Given the description of an element on the screen output the (x, y) to click on. 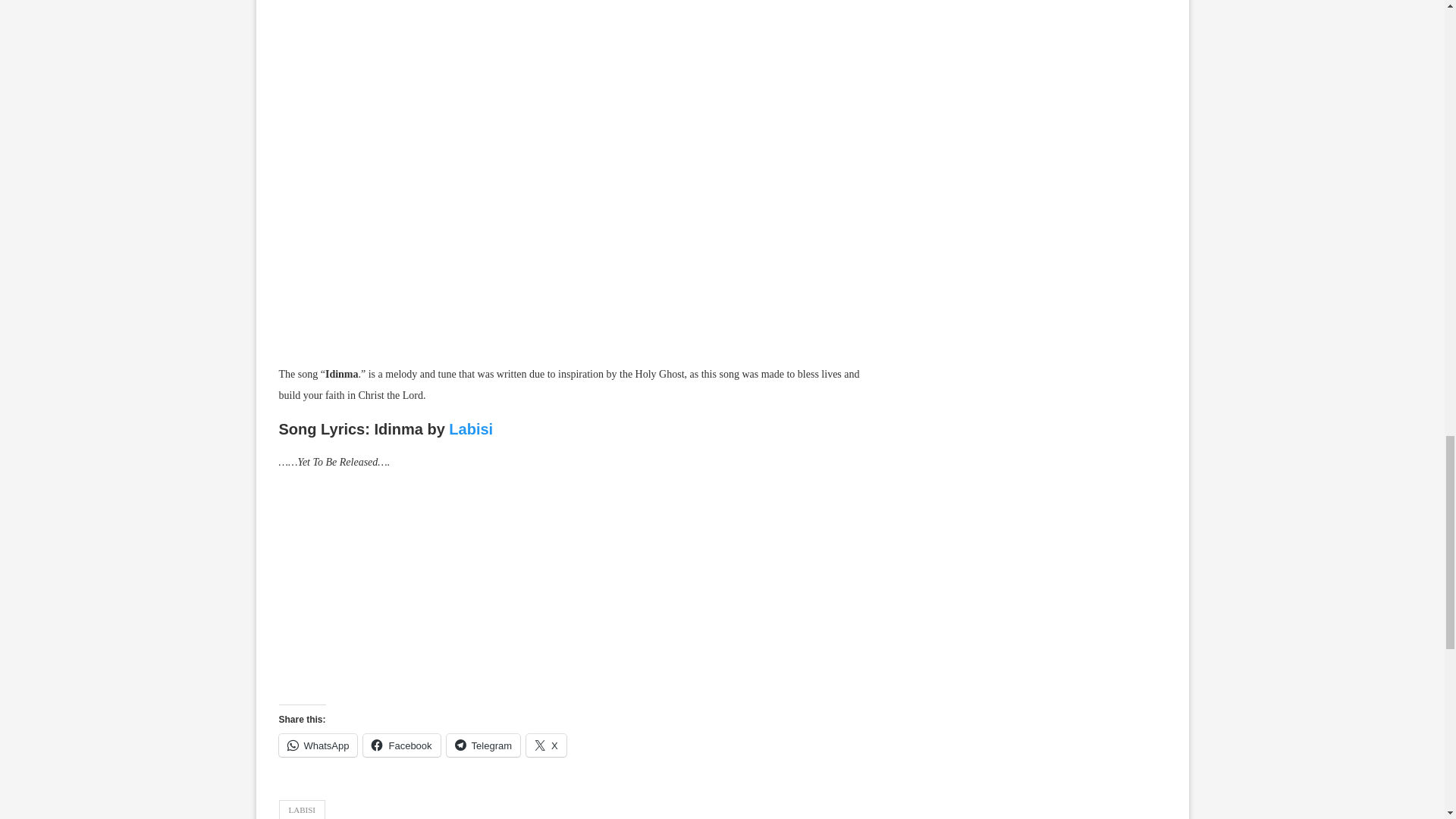
Click to share on Facebook (400, 744)
Click to share on WhatsApp (318, 744)
Advertisement (574, 592)
Posts tagged with Labisi (470, 428)
